Given the description of an element on the screen output the (x, y) to click on. 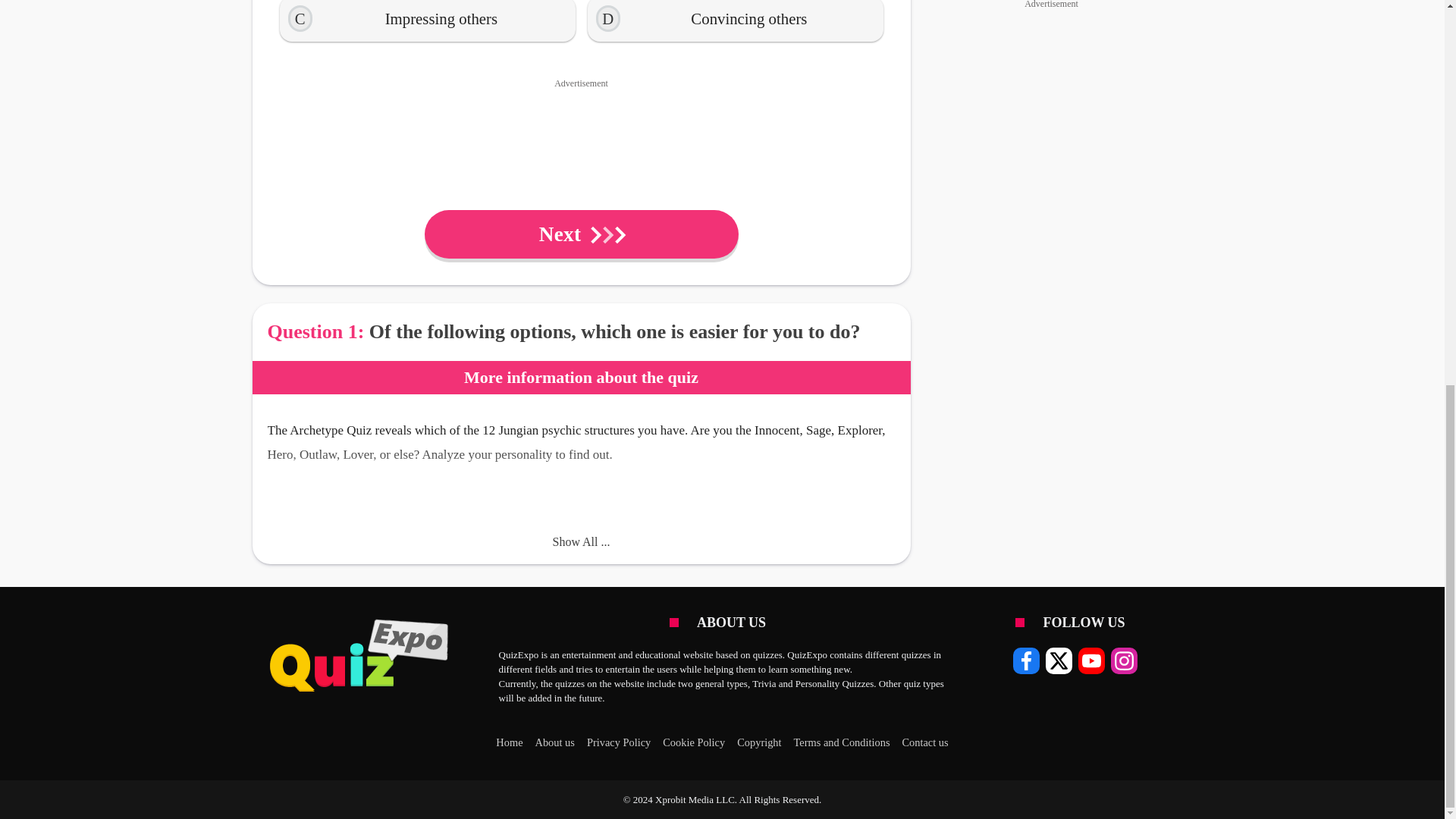
Privacy Policy (618, 742)
Cookie Policy (693, 742)
Contact us (924, 742)
Next (581, 233)
Terms and Conditions (841, 742)
About us (555, 742)
Show All ... (580, 541)
Copyright (758, 742)
Home (509, 742)
